Given the description of an element on the screen output the (x, y) to click on. 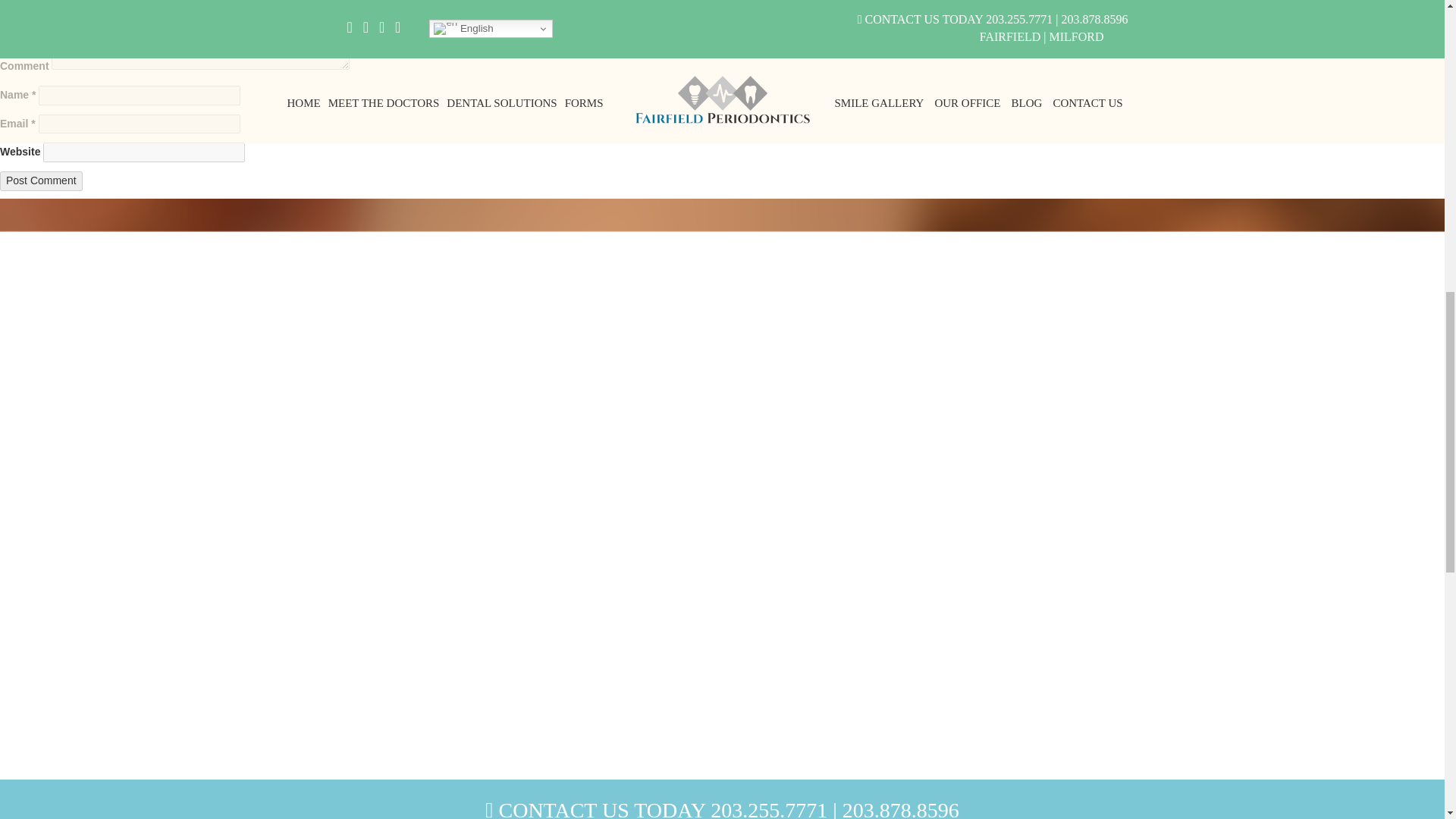
Post Comment (41, 180)
